Given the description of an element on the screen output the (x, y) to click on. 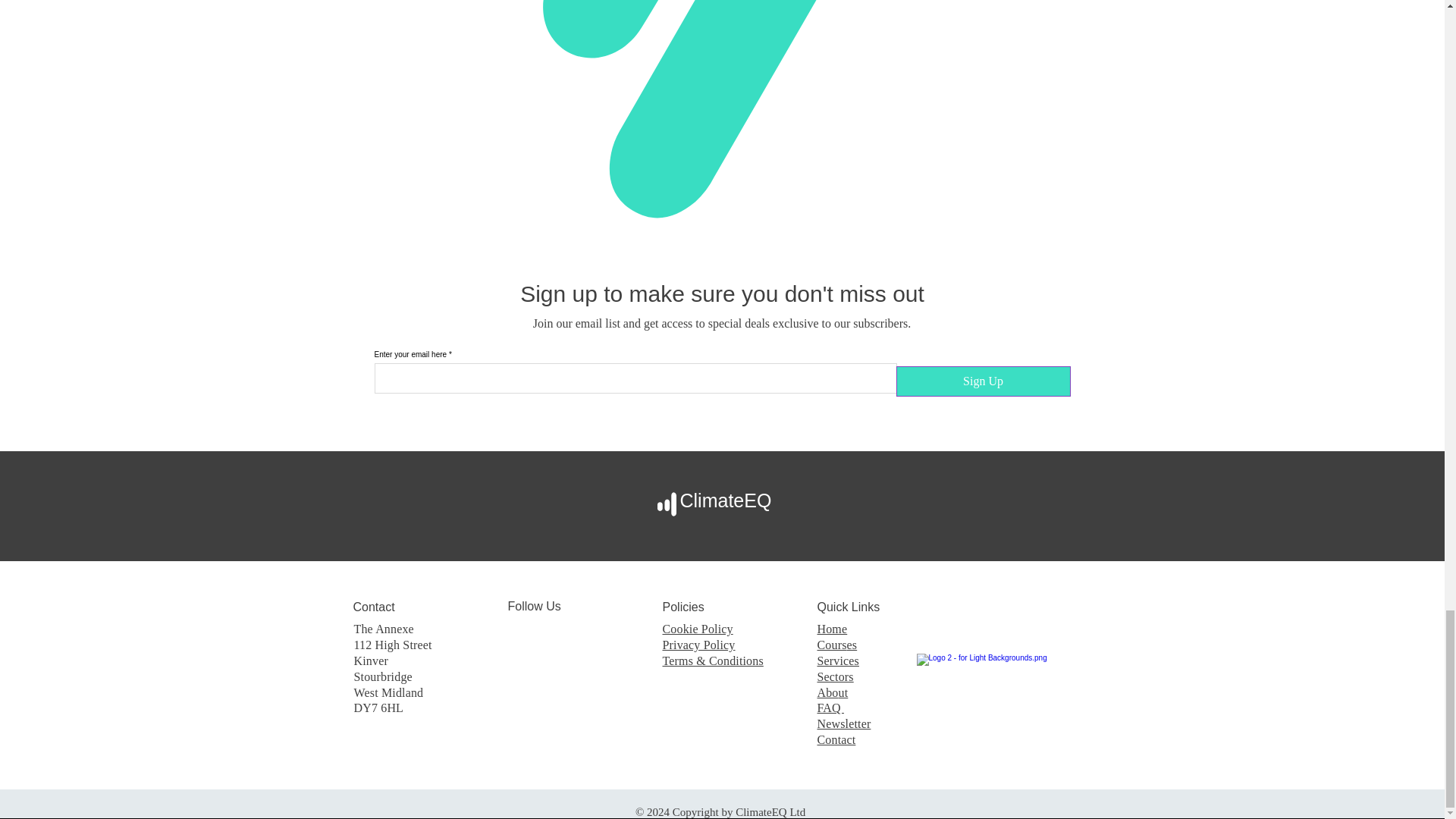
Cookie Policy (697, 628)
Courses (836, 644)
Home (831, 628)
Services (837, 660)
Sign Up (983, 381)
ClimateEQ (725, 500)
Privacy Policy (698, 644)
Sectors (834, 676)
